Given the description of an element on the screen output the (x, y) to click on. 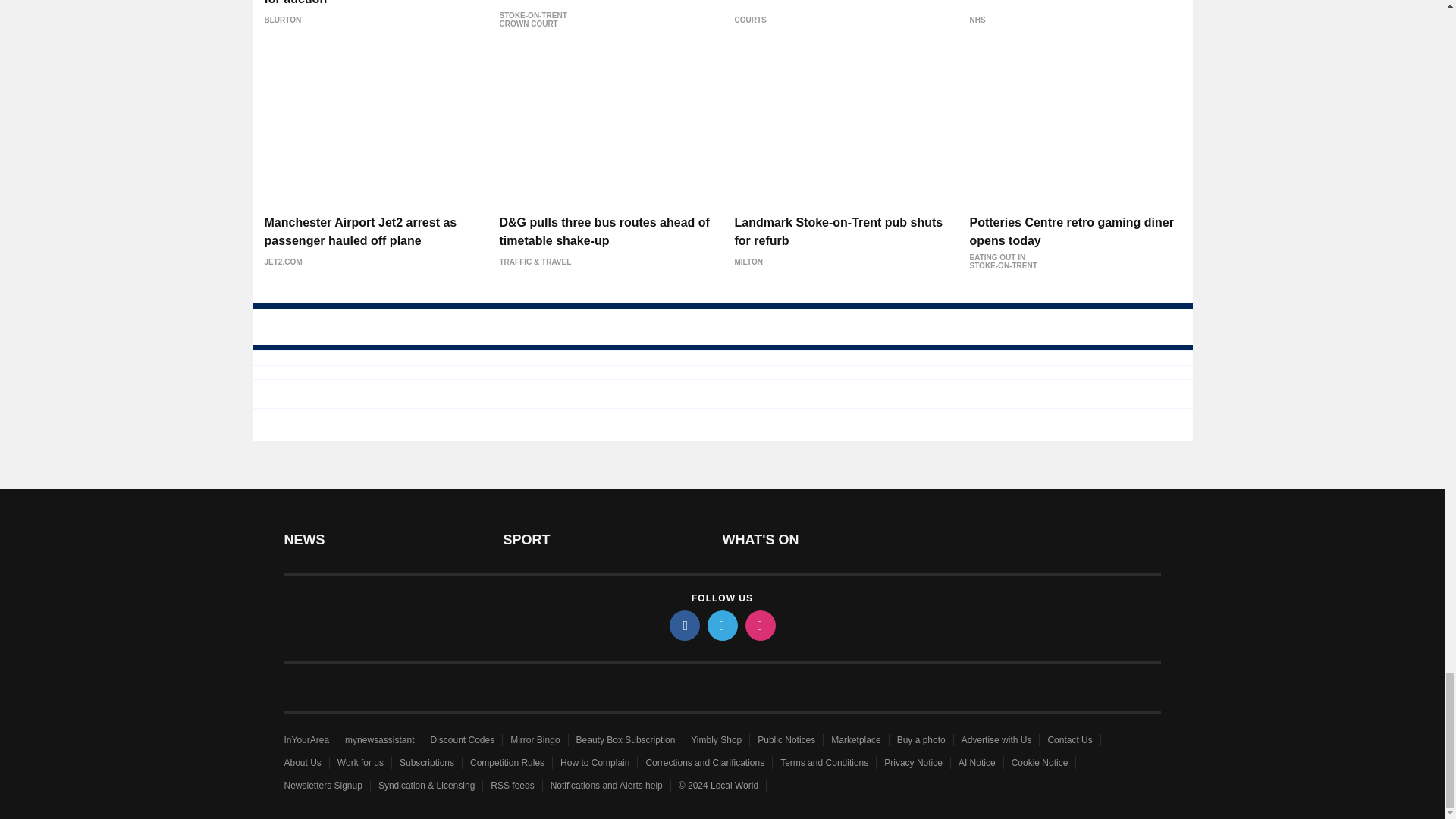
instagram (759, 625)
facebook (683, 625)
twitter (721, 625)
